Given the description of an element on the screen output the (x, y) to click on. 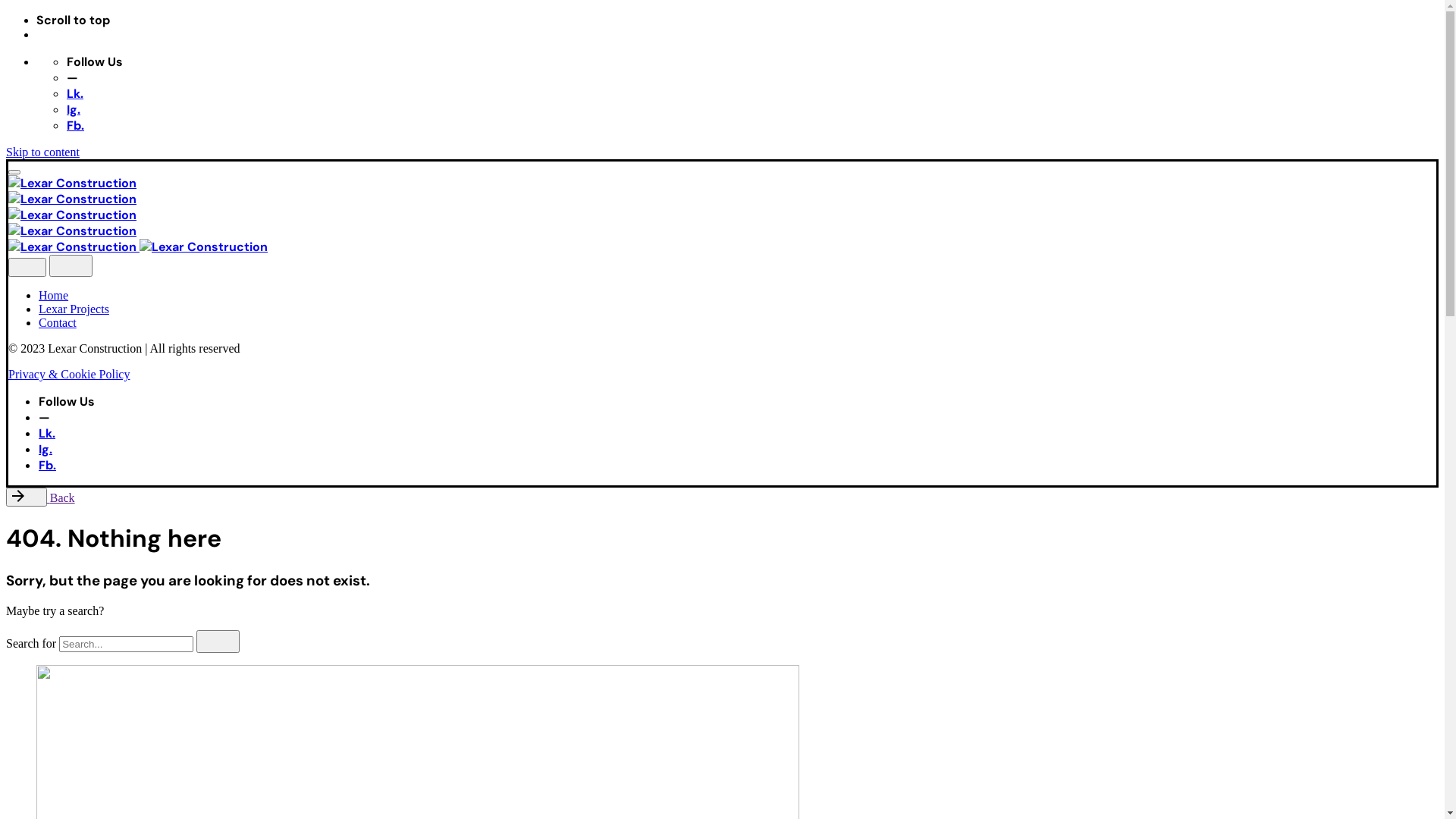
Scroll to top Element type: text (737, 20)
Ig. Element type: text (45, 449)
Ig. Element type: text (73, 109)
Privacy & Cookie Policy Element type: text (68, 373)
Lk. Element type: text (46, 433)
Skip to content Element type: text (42, 151)
Fb. Element type: text (47, 465)
Home Element type: text (53, 294)
Fb. Element type: text (75, 125)
Lexar Projects Element type: text (73, 308)
Back Element type: text (40, 497)
Lk. Element type: text (74, 93)
Contact Element type: text (57, 322)
